Given the description of an element on the screen output the (x, y) to click on. 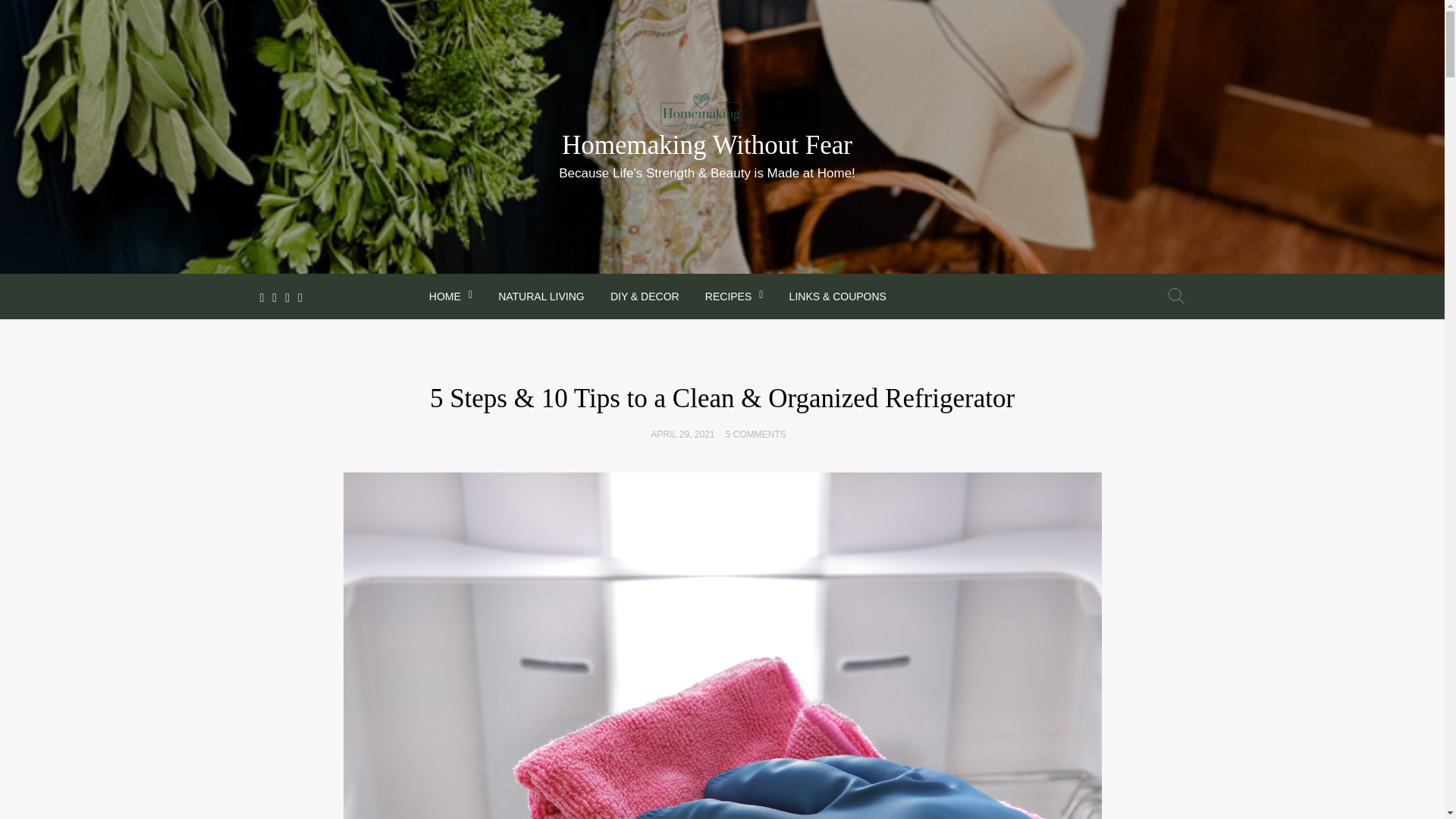
HOME (450, 294)
Home (450, 294)
Natural Living (540, 294)
Homemaking Without Fear (706, 144)
Recipes (734, 294)
RECIPES (734, 294)
NATURAL LIVING (540, 294)
